Given the description of an element on the screen output the (x, y) to click on. 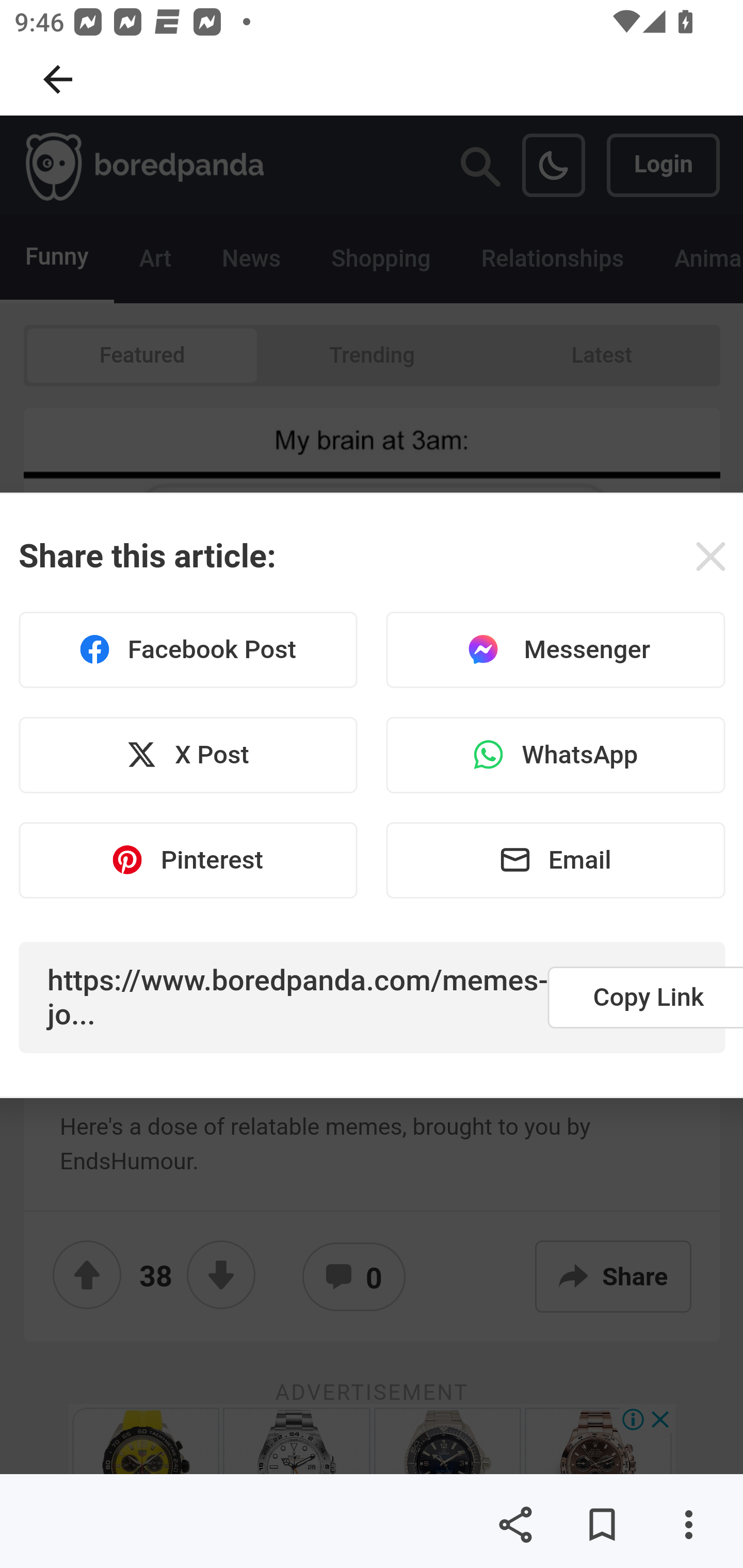
Navigate up (57, 79)
Dialog close (709, 555)
Facebook Facebook Post Facebook Facebook Post (187, 649)
Twitter x X Post Twitter x X Post (187, 754)
Whatsapp WhatsApp Whatsapp WhatsApp (554, 754)
Mail share Email Mail share Email (554, 859)
Copy Link (644, 996)
Share (514, 1524)
Save for later (601, 1524)
More options (688, 1524)
